Given the description of an element on the screen output the (x, y) to click on. 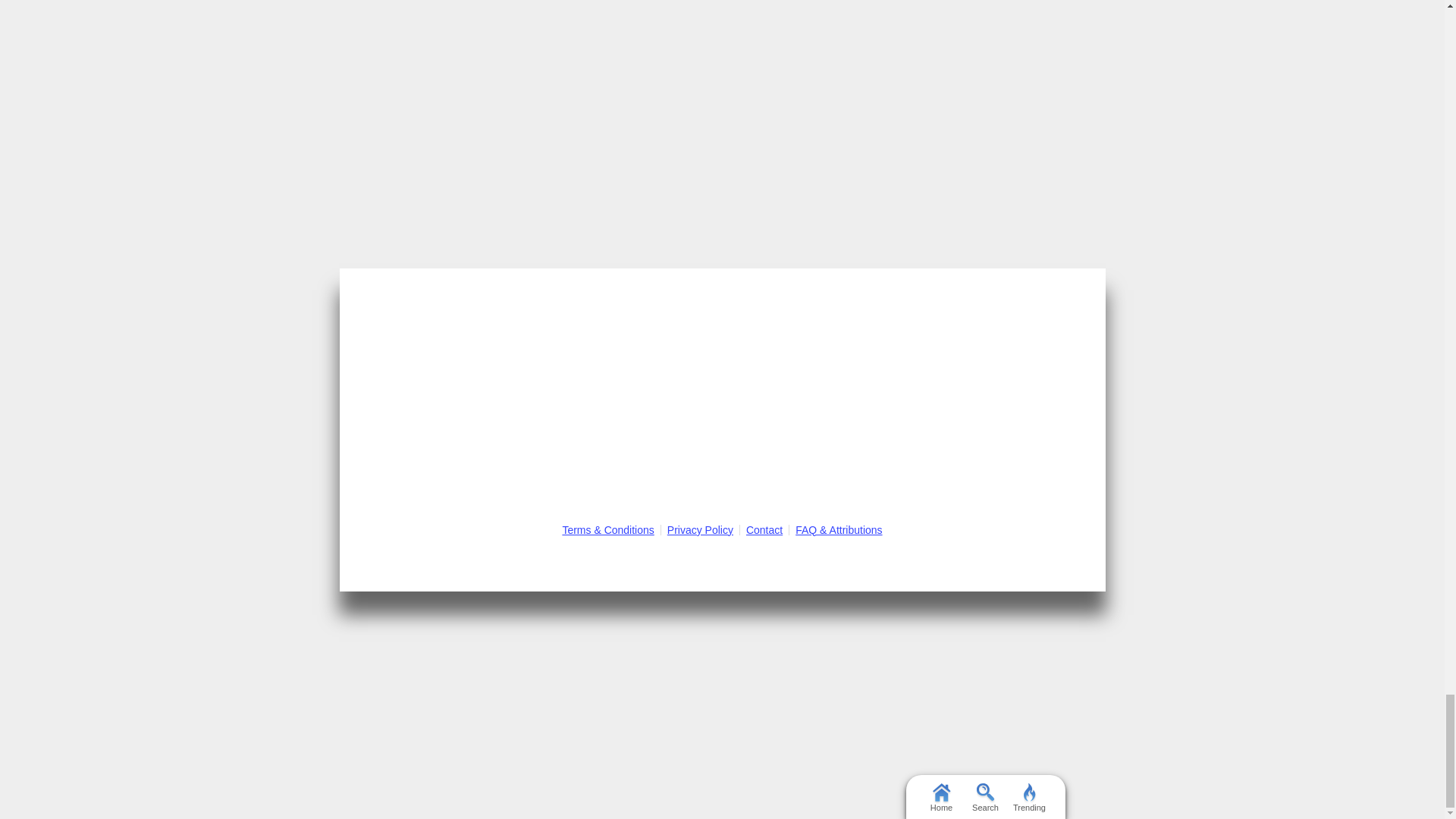
Privacy Policy (699, 530)
Contact (764, 530)
